Given the description of an element on the screen output the (x, y) to click on. 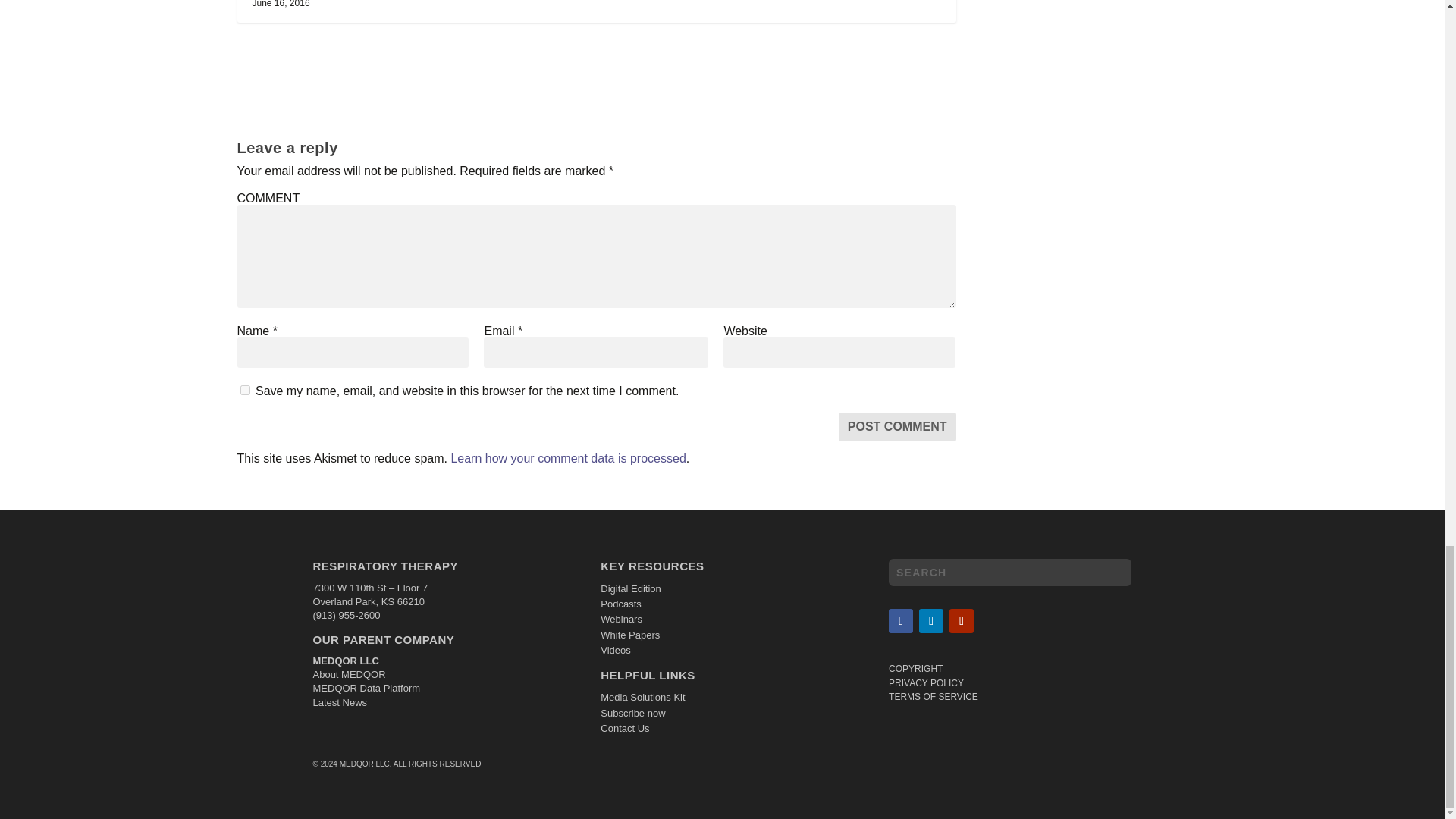
yes (244, 389)
Post Comment (897, 426)
